Given the description of an element on the screen output the (x, y) to click on. 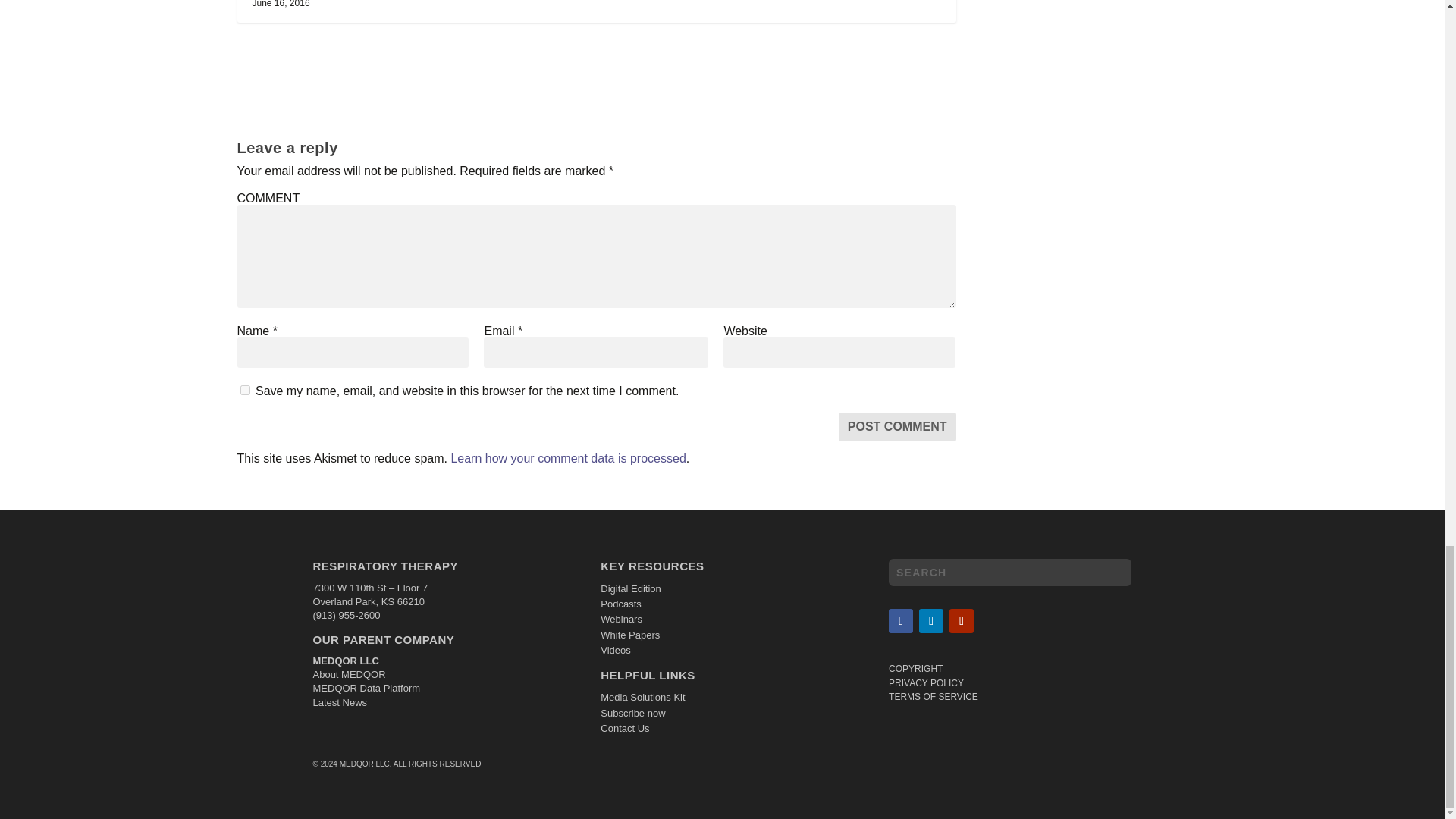
yes (244, 389)
Post Comment (897, 426)
